Given the description of an element on the screen output the (x, y) to click on. 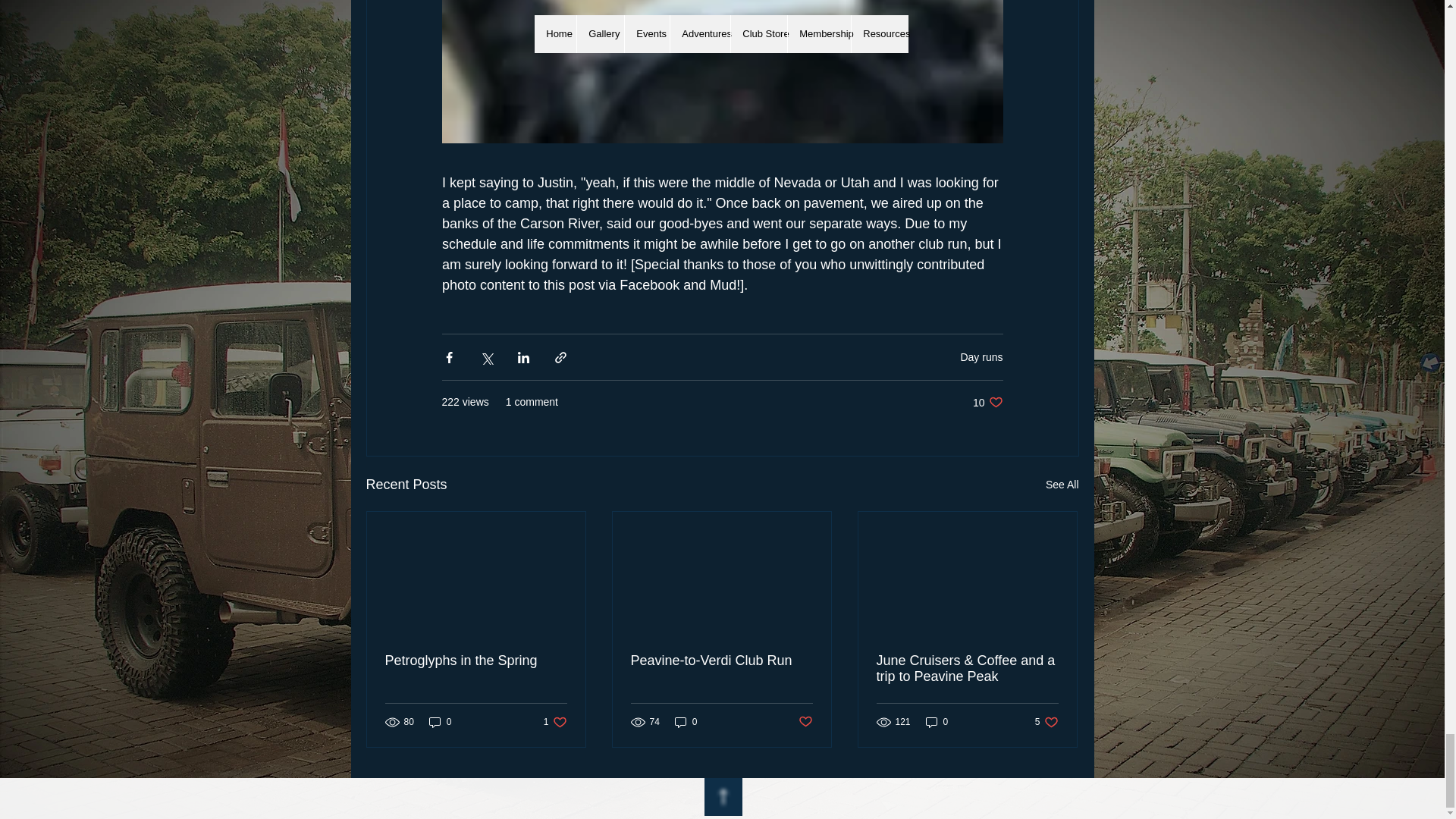
Peavine-to-Verdi Club Run (721, 660)
0 (440, 721)
0 (937, 721)
0 (685, 721)
Petroglyphs in the Spring (555, 721)
See All (476, 660)
Post not marked as liked (1046, 721)
